Given the description of an element on the screen output the (x, y) to click on. 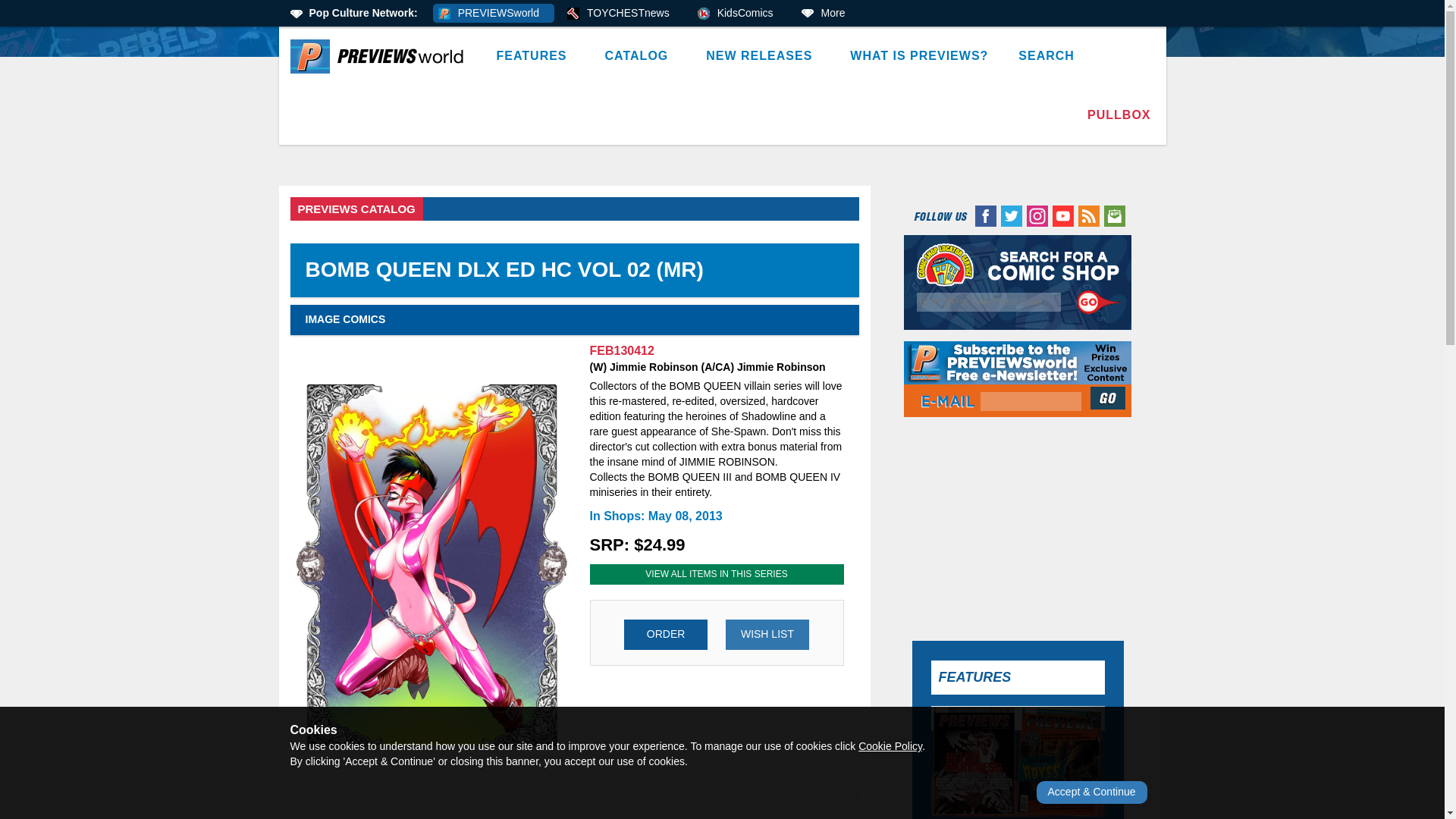
TOYCHESTnews (623, 13)
Enter ZIP or CAN Postal Code (989, 302)
More (828, 13)
FEATURES (534, 55)
Email Address Input for Newsletter Signup (1030, 401)
PREVIEWSworld (493, 13)
CATALOG (640, 55)
KidsComics (741, 13)
Join Our NewsLetter (1109, 397)
